Given the description of an element on the screen output the (x, y) to click on. 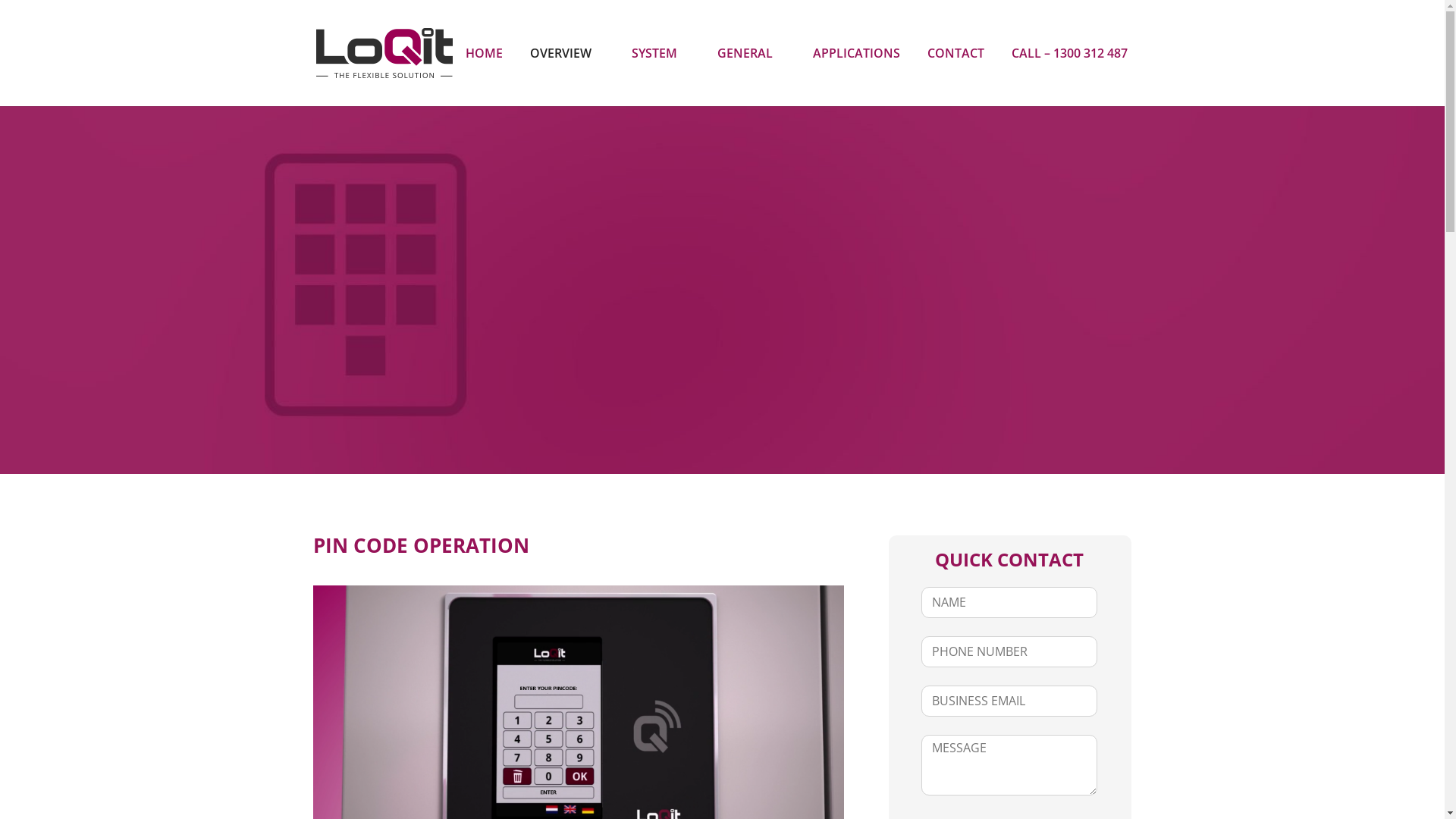
GENERAL Element type: text (751, 52)
CONTACT Element type: text (955, 52)
SYSTEM Element type: text (659, 52)
APPLICATIONS Element type: text (856, 52)
HOME Element type: text (484, 52)
OVERVIEW Element type: text (566, 52)
